Given the description of an element on the screen output the (x, y) to click on. 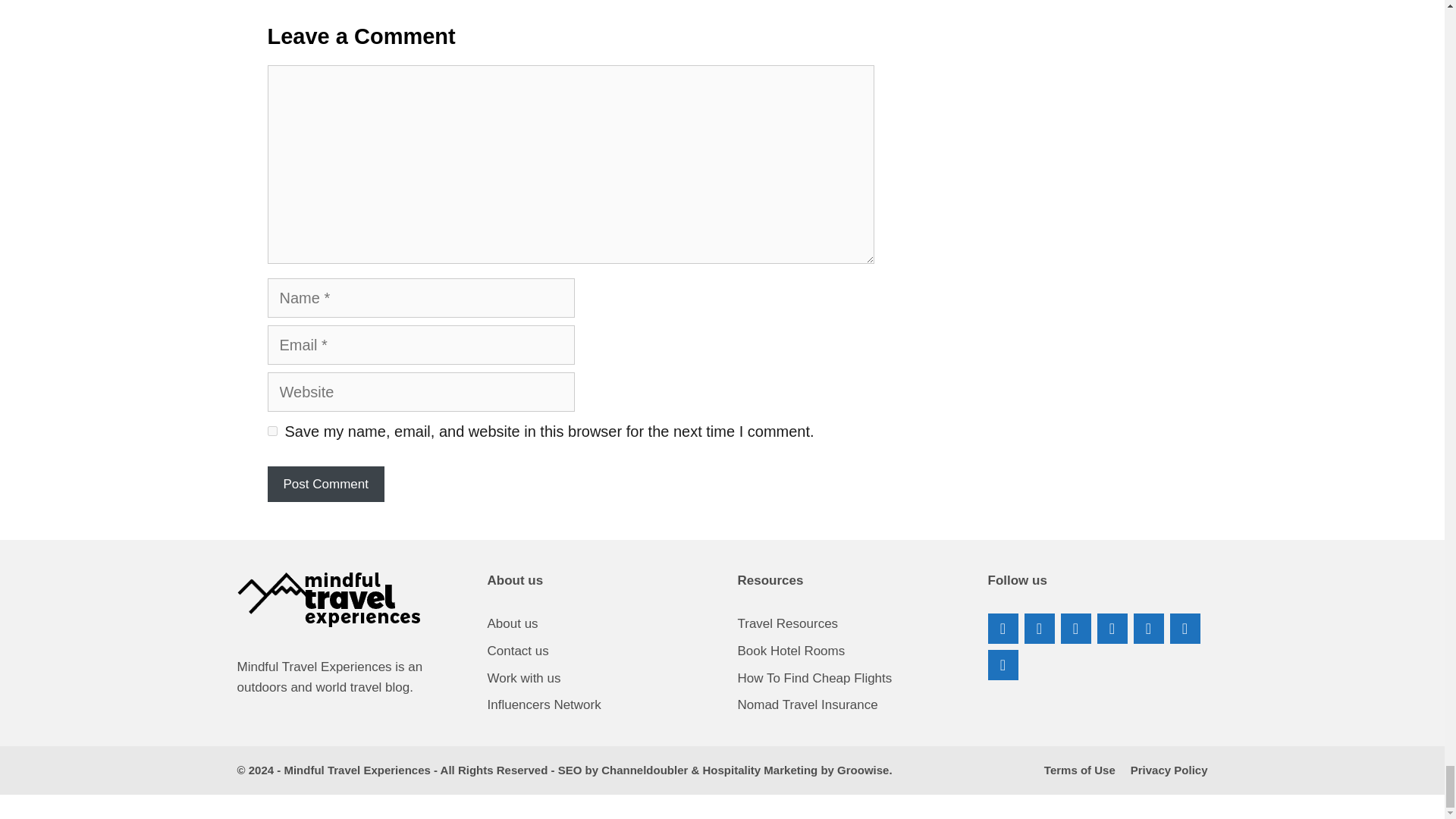
Post Comment (325, 484)
yes (271, 430)
